Given the description of an element on the screen output the (x, y) to click on. 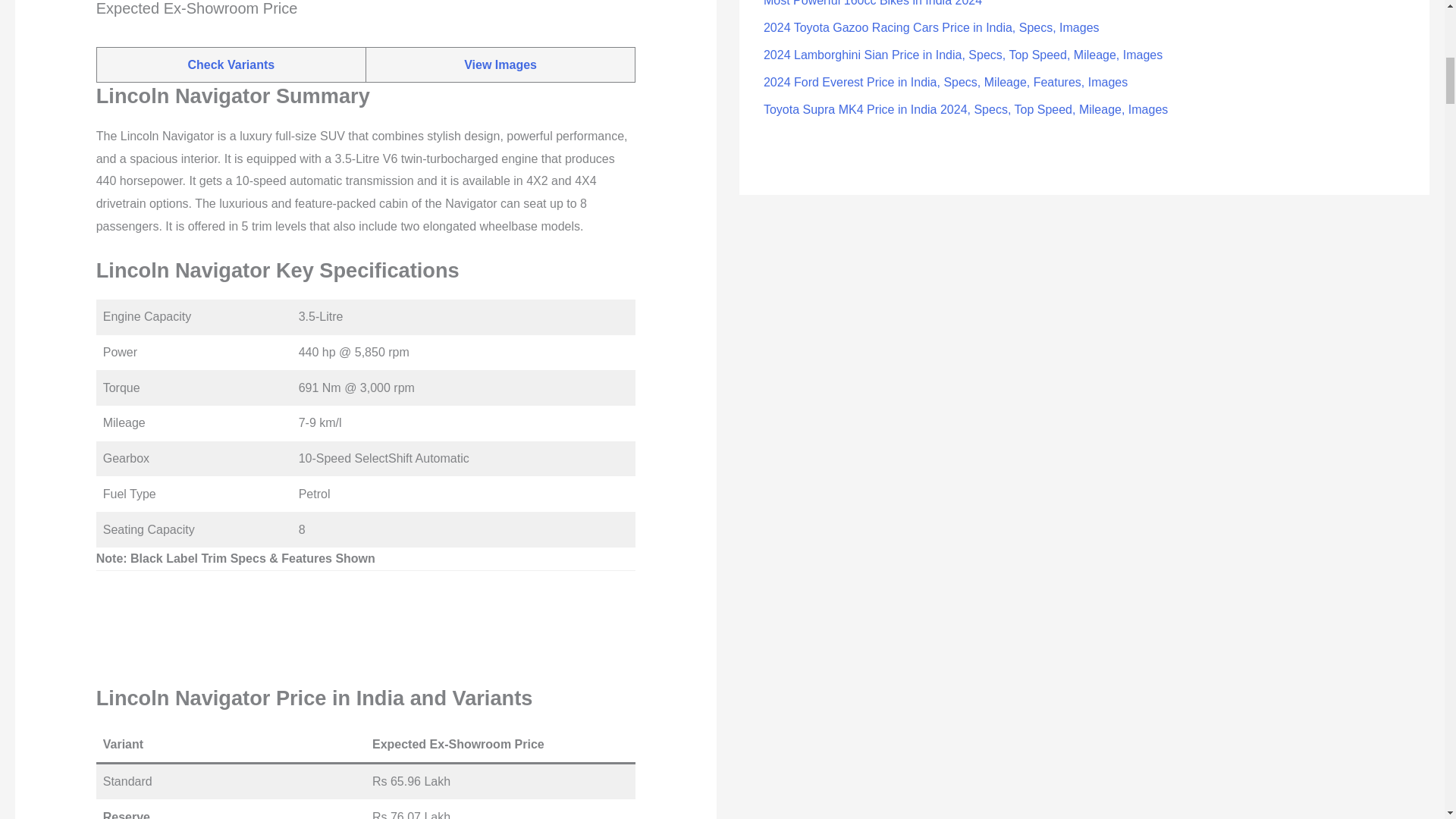
Advertisement (365, 627)
